Given the description of an element on the screen output the (x, y) to click on. 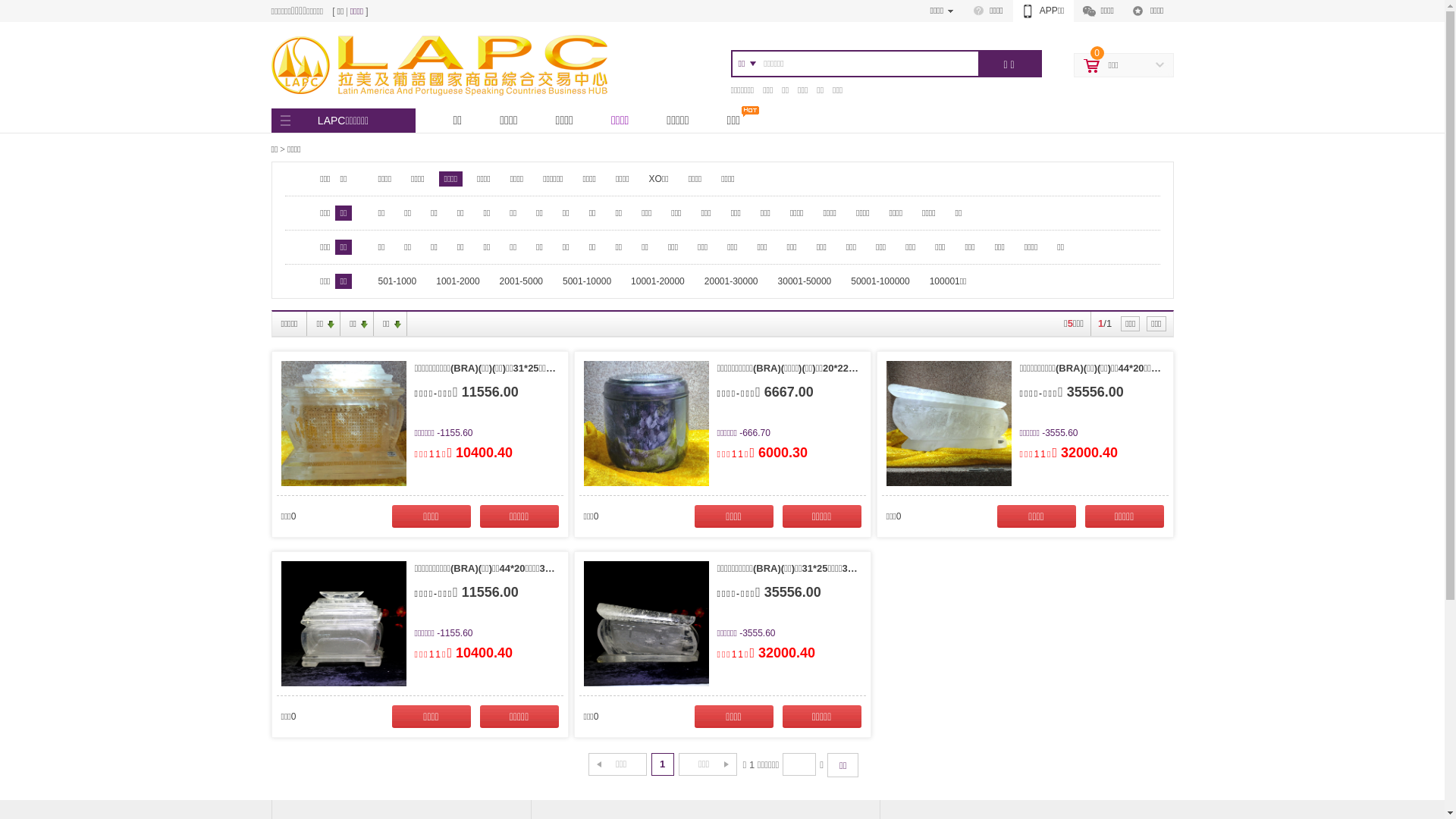
501-1000 Element type: text (397, 280)
2001-5000 Element type: text (521, 280)
1 Element type: text (662, 764)
5001-10000 Element type: text (586, 280)
50001-100000 Element type: text (879, 280)
30001-50000 Element type: text (804, 280)
10001-20000 Element type: text (657, 280)
1001-2000 Element type: text (457, 280)
20001-30000 Element type: text (731, 280)
